Given the description of an element on the screen output the (x, y) to click on. 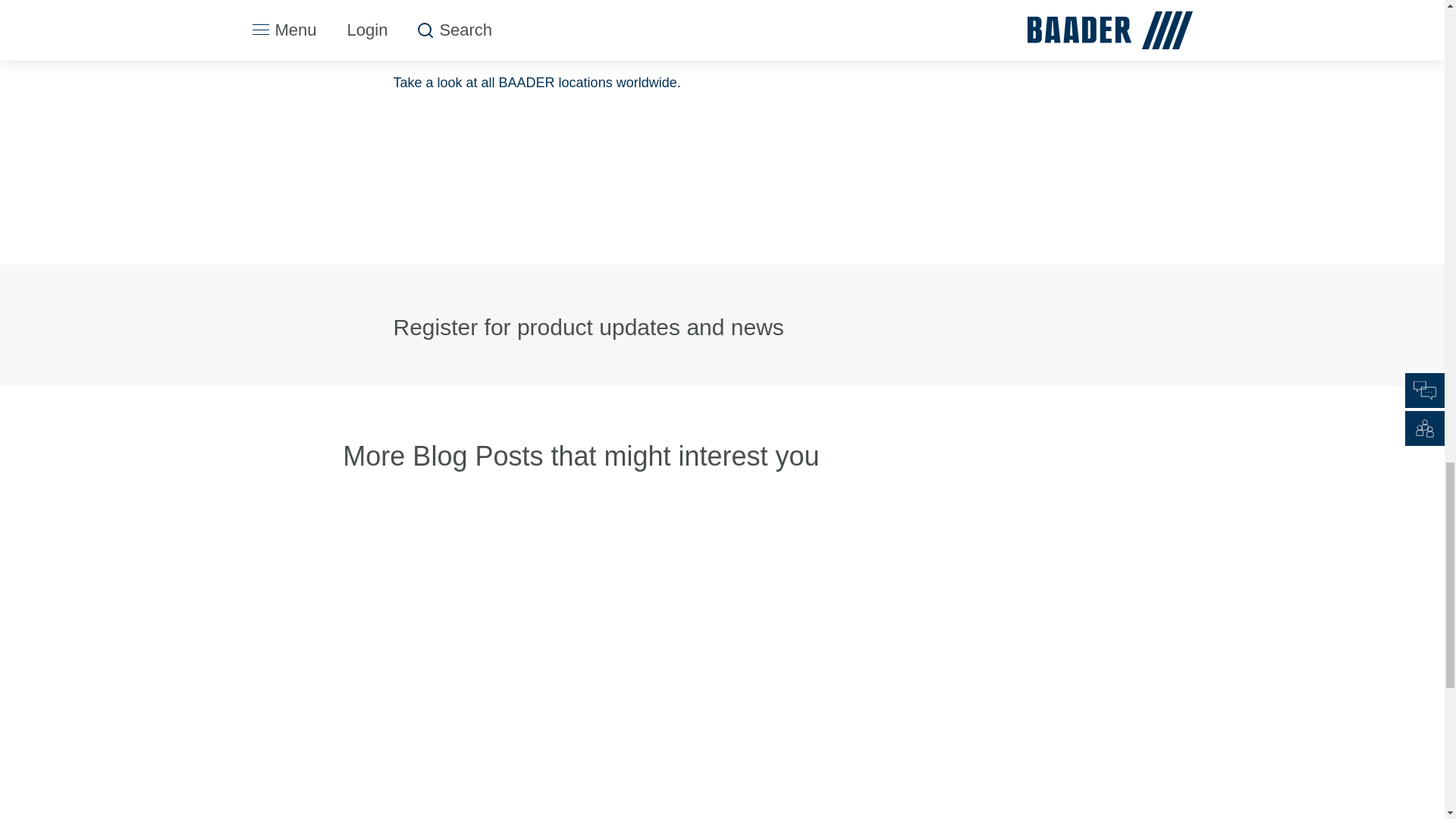
Take a look at all BAADER locations worldwide. (536, 82)
